Given the description of an element on the screen output the (x, y) to click on. 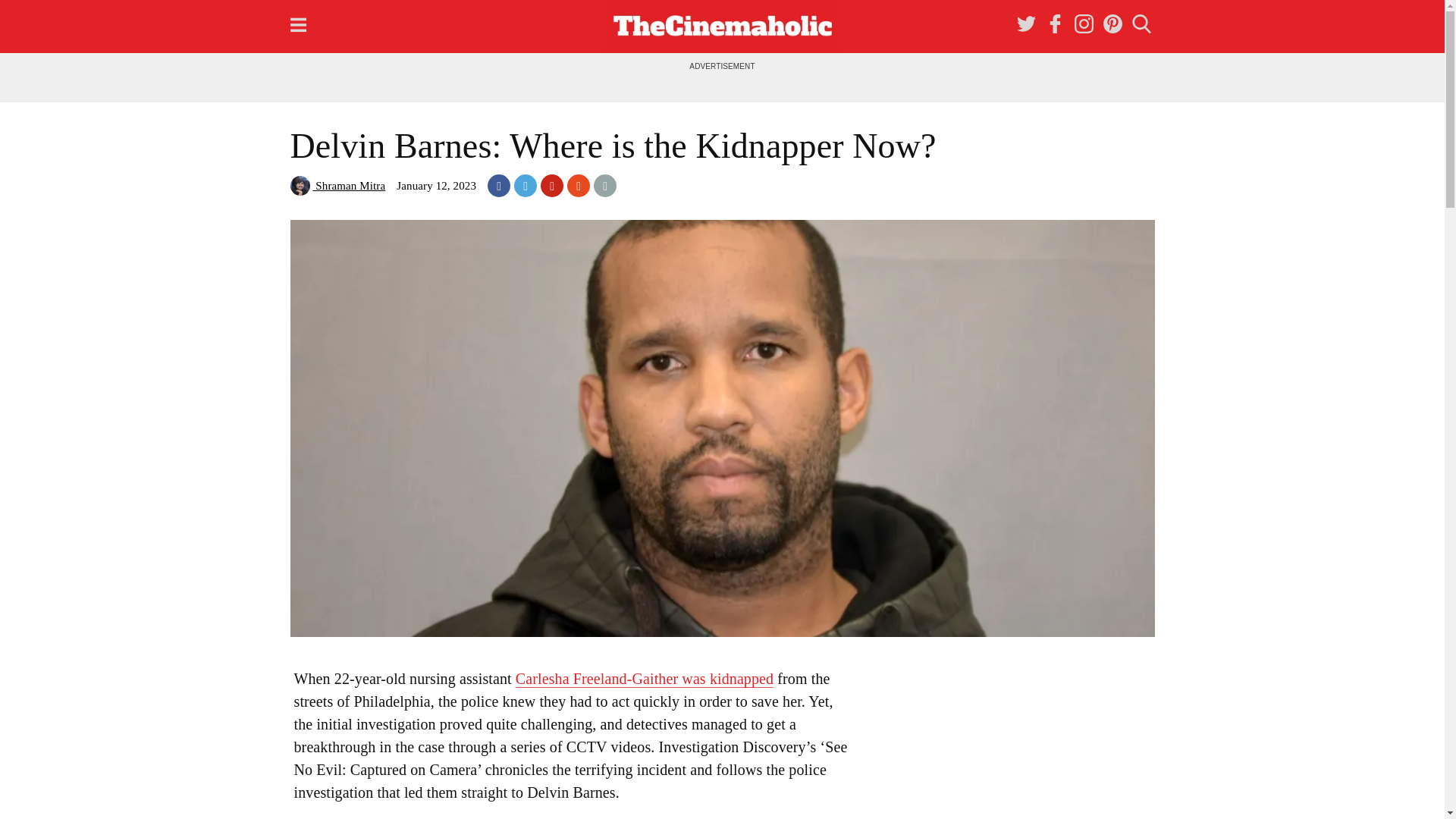
Carlesha Freeland-Gaither was kidnapped (644, 678)
Shraman Mitra (337, 185)
